Given the description of an element on the screen output the (x, y) to click on. 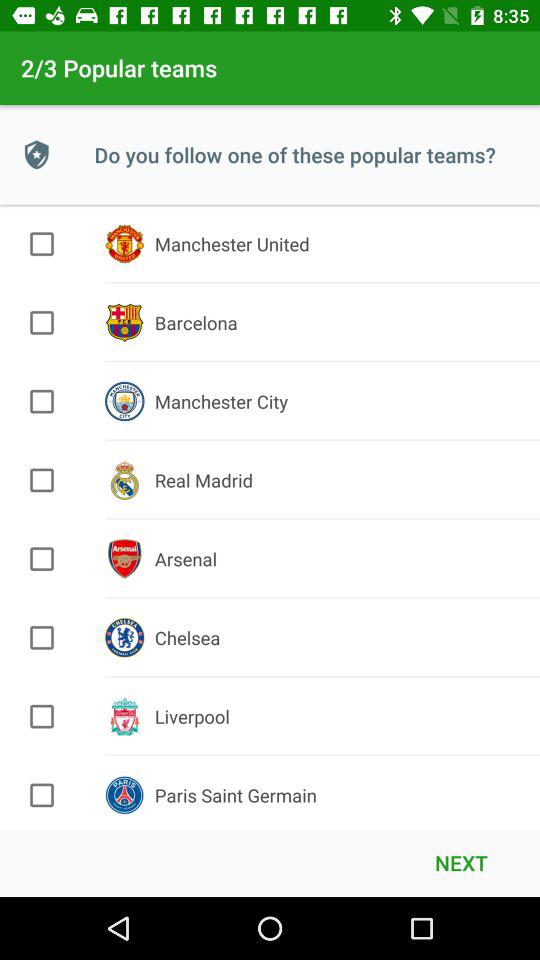
team selection (42, 795)
